Given the description of an element on the screen output the (x, y) to click on. 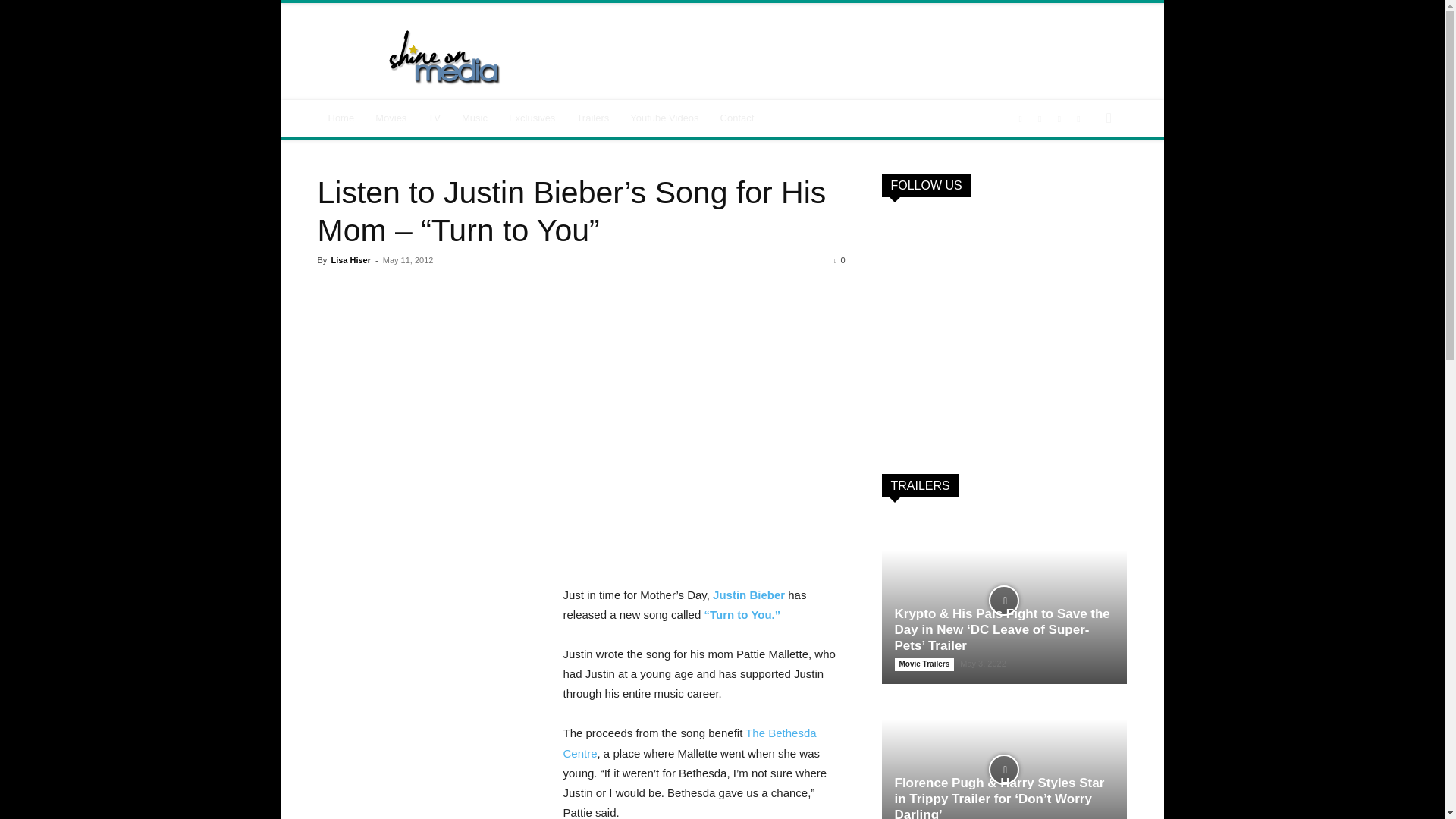
Home (341, 117)
Movies (390, 117)
